Given the description of an element on the screen output the (x, y) to click on. 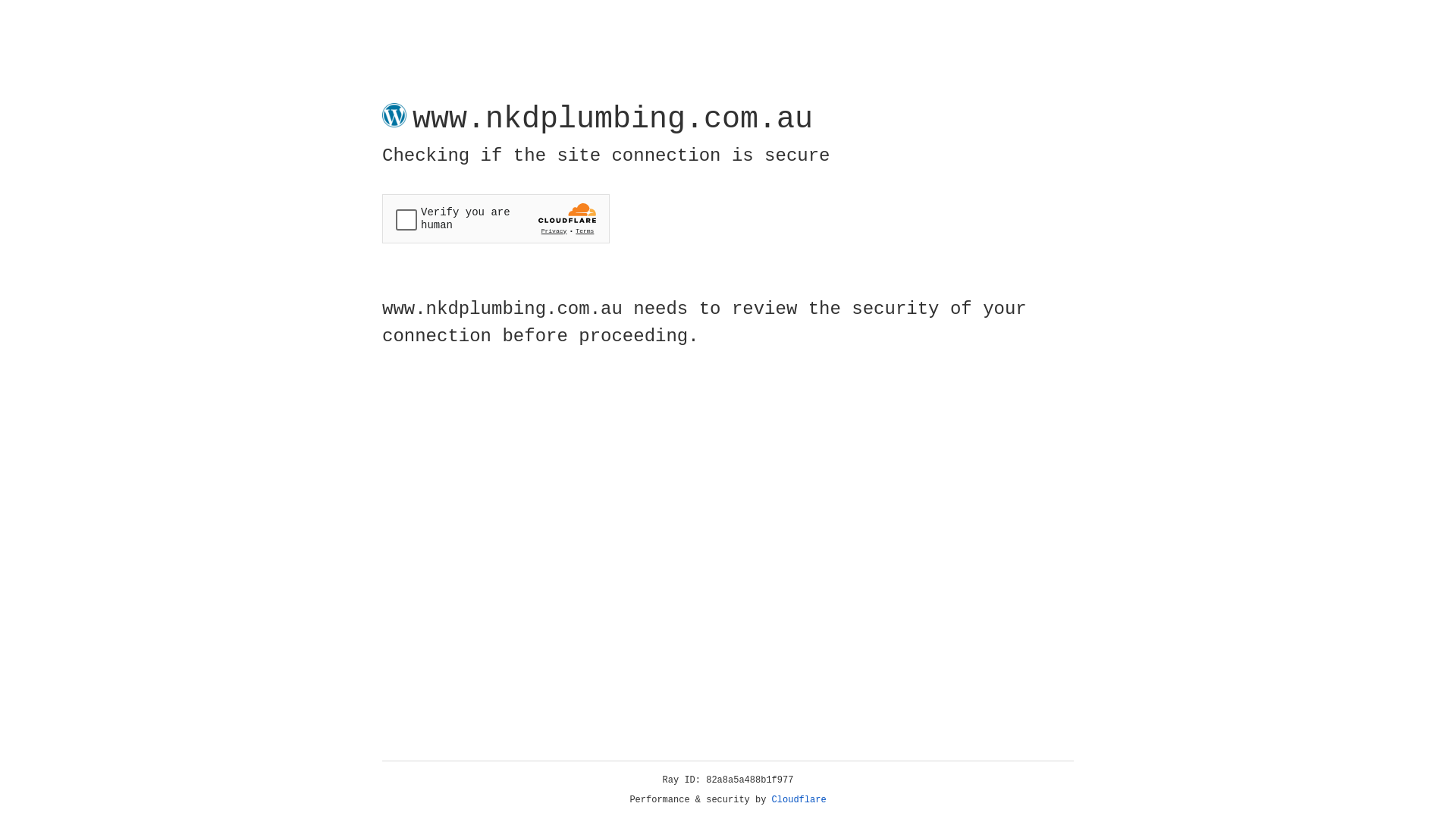
Widget containing a Cloudflare security challenge Element type: hover (495, 218)
Cloudflare Element type: text (798, 799)
